Given the description of an element on the screen output the (x, y) to click on. 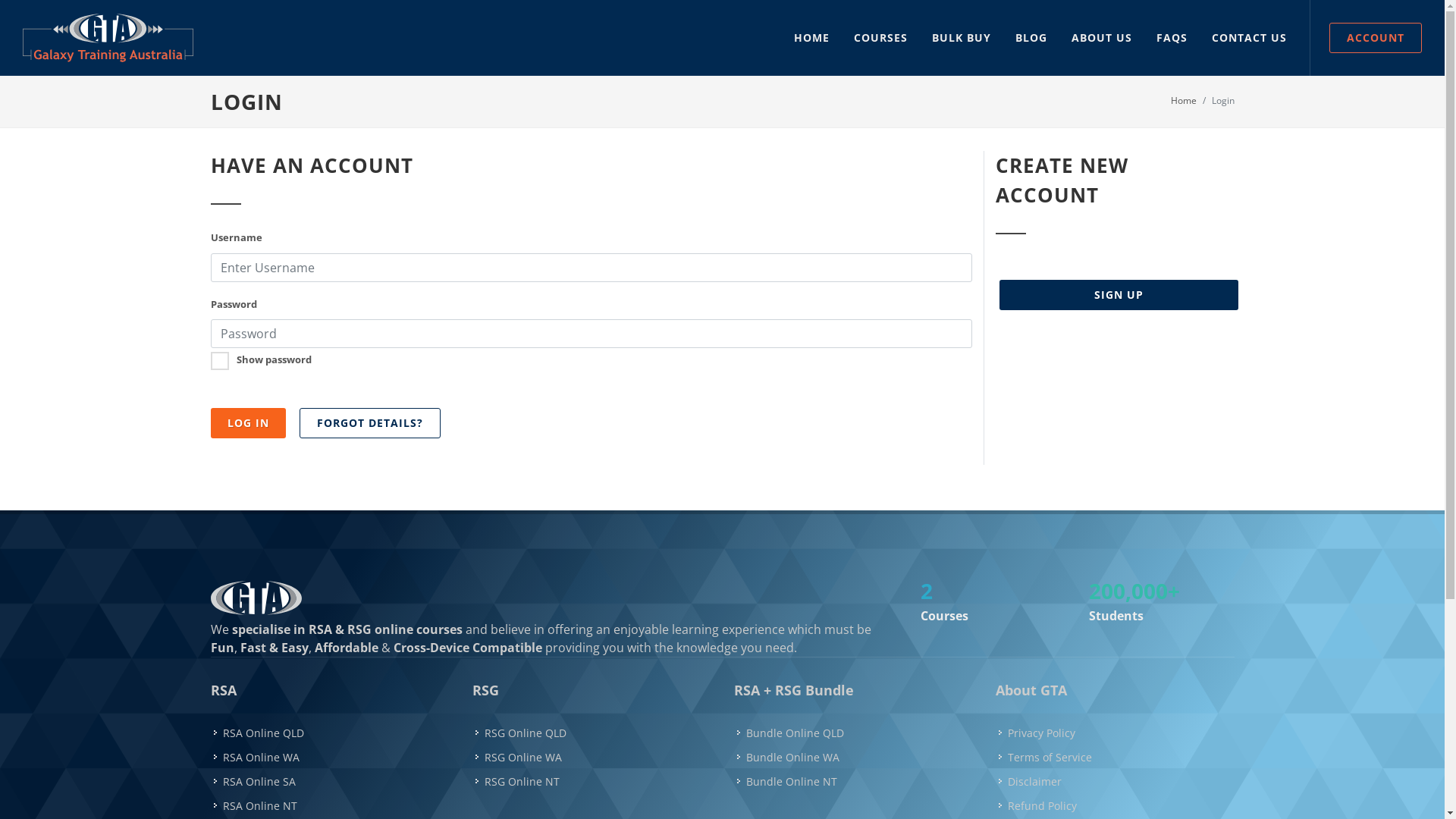
ACCOUNT Element type: text (1375, 37)
RSG Element type: text (484, 689)
FORGOT DETAILS? Element type: text (368, 422)
COURSES Element type: text (880, 37)
BULK BUY Element type: text (961, 37)
RSG Online NT Element type: text (517, 781)
Privacy Policy Element type: text (1036, 732)
Bundle Online WA Element type: text (789, 757)
Disclaimer Element type: text (1030, 781)
CONTACT US Element type: text (1249, 37)
Bundle Online NT Element type: text (788, 781)
SIGN UP Element type: text (1118, 294)
RSA Element type: text (223, 689)
BLOG Element type: text (1031, 37)
RSA Online NT Element type: text (256, 805)
Log In Element type: text (247, 422)
HOME Element type: text (811, 37)
Bundle Online QLD Element type: text (791, 732)
RSG Online QLD Element type: text (520, 732)
ABOUT US Element type: text (1101, 37)
RSA + RSG Bundle Element type: text (793, 689)
Home Element type: text (1183, 100)
RSG Online WA Element type: text (518, 757)
Terms of Service Element type: text (1045, 757)
RSA Online QLD Element type: text (259, 732)
About GTA Element type: text (1030, 689)
FAQS Element type: text (1171, 37)
RSA Online SA Element type: text (255, 781)
Refund Policy Element type: text (1037, 805)
RSA Online WA Element type: text (257, 757)
